Given the description of an element on the screen output the (x, y) to click on. 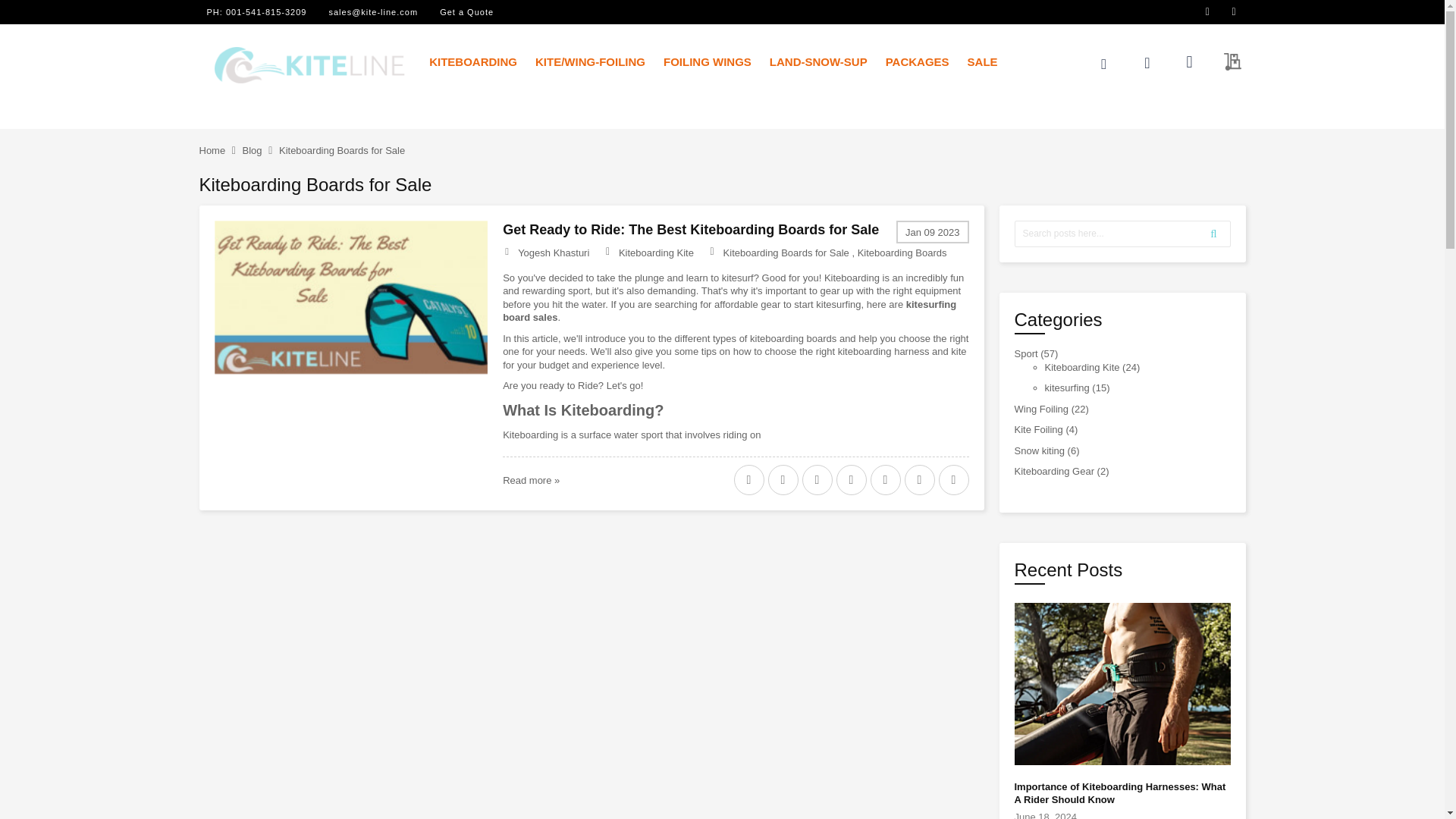
Go to Home Page (211, 150)
My Quote (1226, 61)
PH: 001-541-815-3209 (255, 11)
Kite-line (309, 64)
FOILING WINGS (706, 61)
Get a Quote (466, 11)
Get Ready to Ride: The Best Kiteboarding Boards for Sale (530, 480)
Kiteboarding Kite (656, 252)
Get Ready to Ride: The Best Kiteboarding Boards for Sale (350, 311)
Kiteboarding Boards (902, 252)
LAND-SNOW-SUP (818, 61)
Blog (252, 150)
KITEBOARDING (472, 61)
